Given the description of an element on the screen output the (x, y) to click on. 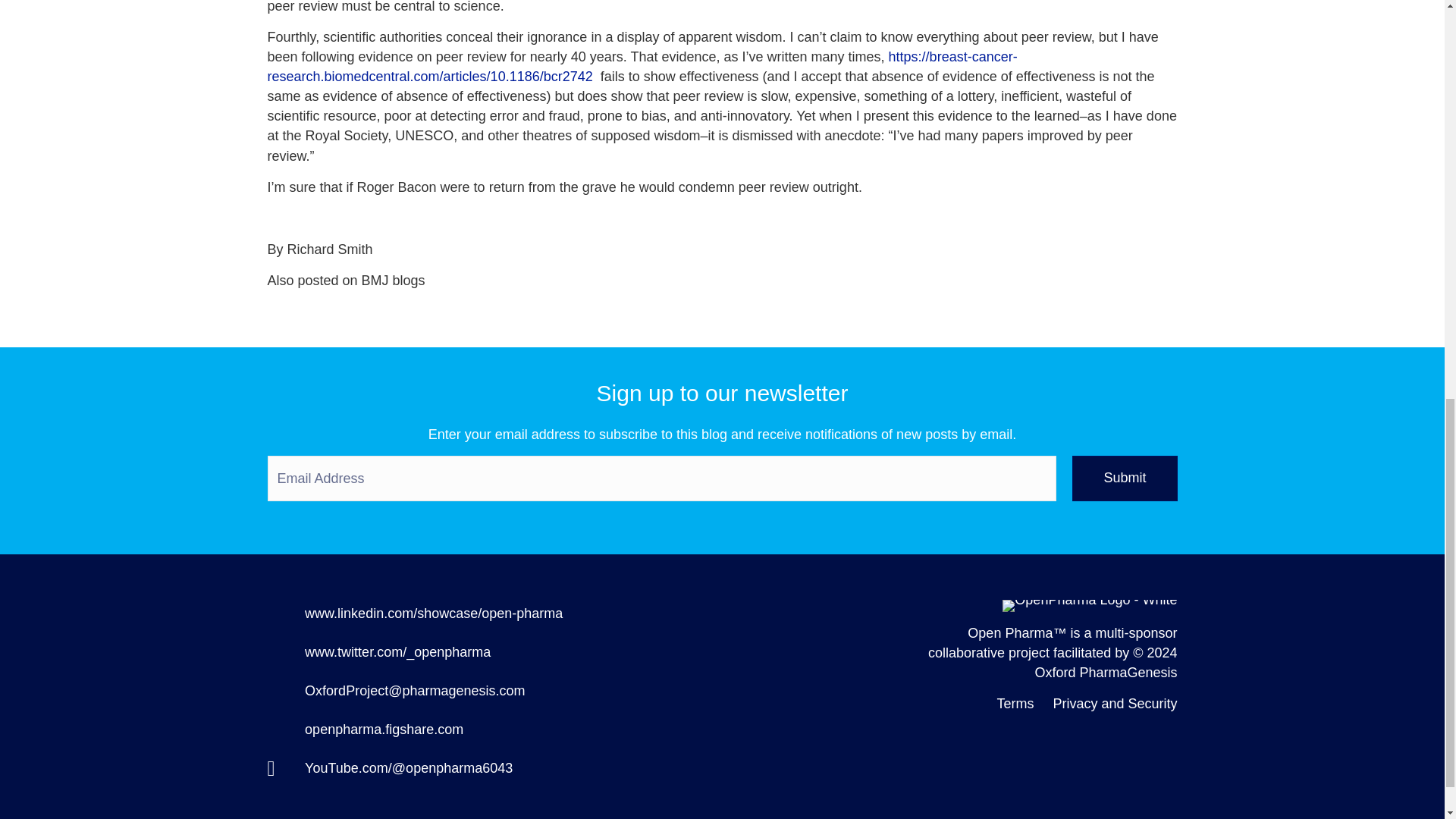
Privacy and Security (1114, 703)
Email address (414, 690)
Visit OpenPharma Figs Share website (383, 729)
OpenPharma Logo - White (1089, 605)
Follow us on Twitter (397, 652)
openpharma.figshare.com (383, 729)
Follow us on LinkedIn (433, 613)
Terms (1014, 703)
Submit (1123, 478)
